Given the description of an element on the screen output the (x, y) to click on. 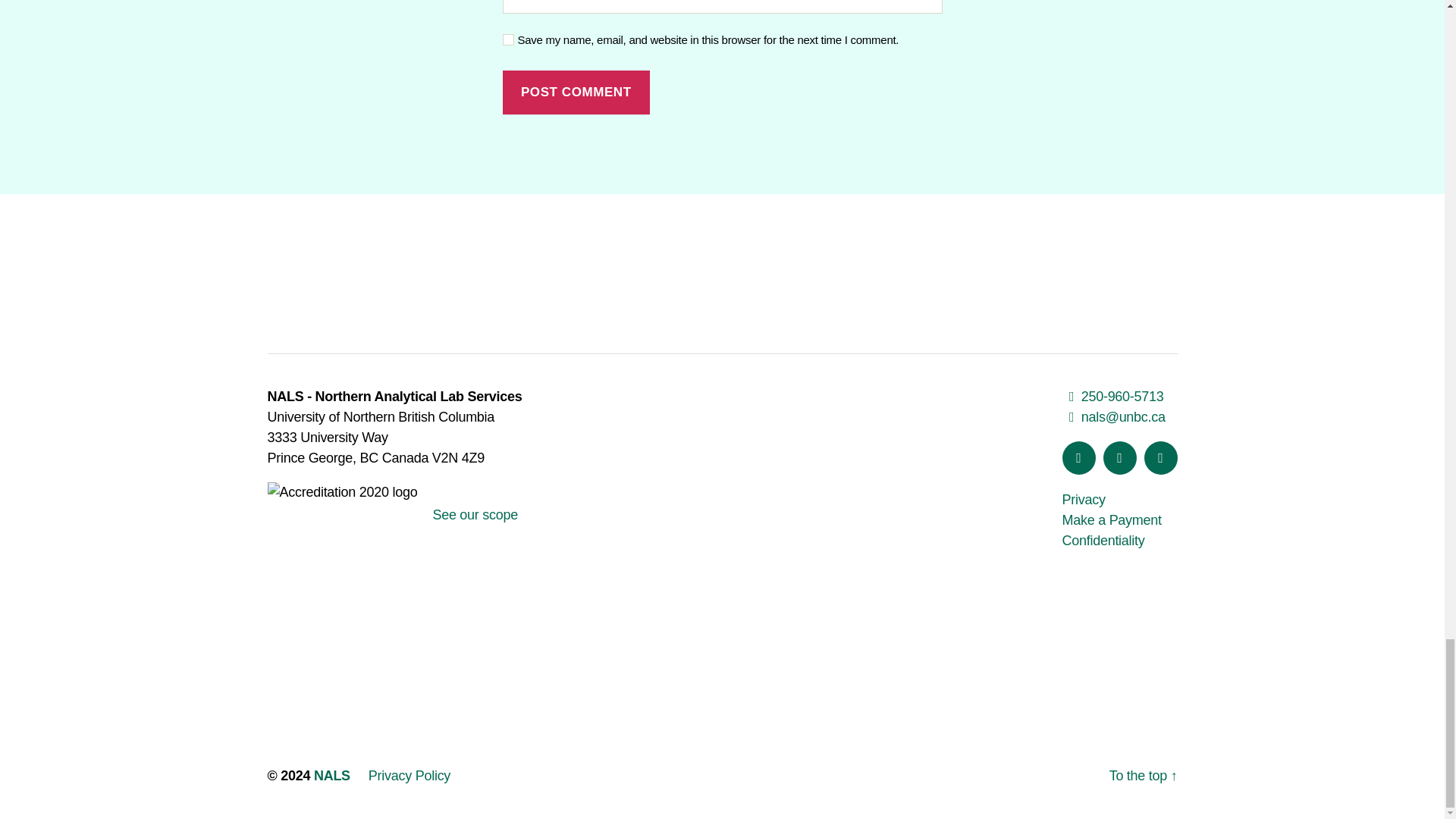
Post Comment (575, 92)
Post Comment (575, 92)
Make a Payment (1110, 519)
Privacy (1083, 499)
NALS (332, 775)
yes (507, 39)
See our scope (475, 503)
250-960-5713 (1112, 396)
Privacy Policy (408, 775)
Confidentiality (1102, 540)
